Given the description of an element on the screen output the (x, y) to click on. 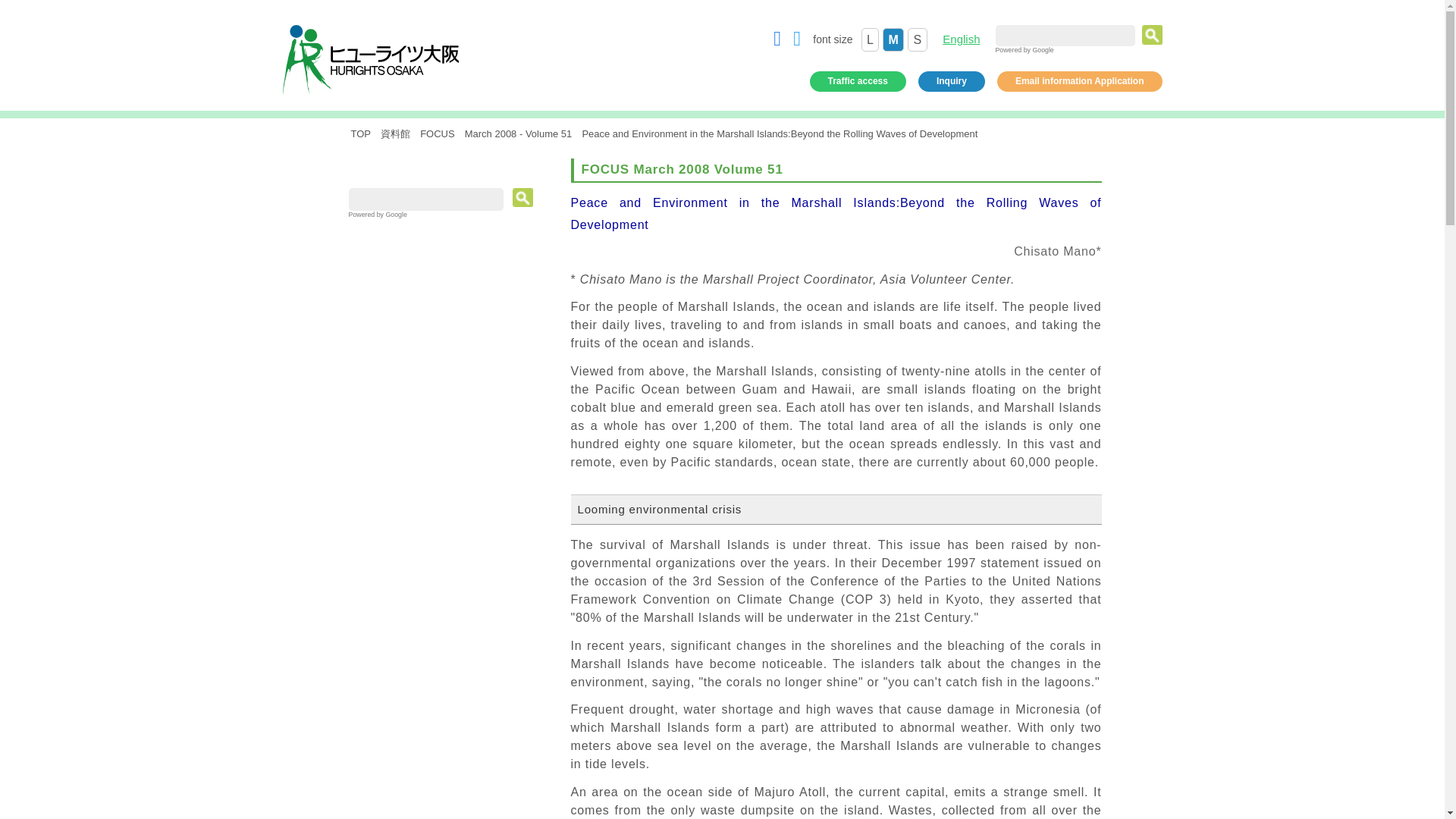
FOCUS (437, 133)
English (960, 38)
Inquiry (951, 81)
Email information Application (1079, 81)
Traffic access (857, 81)
March 2008 - Volume 51 (518, 133)
TOP (360, 133)
